Given the description of an element on the screen output the (x, y) to click on. 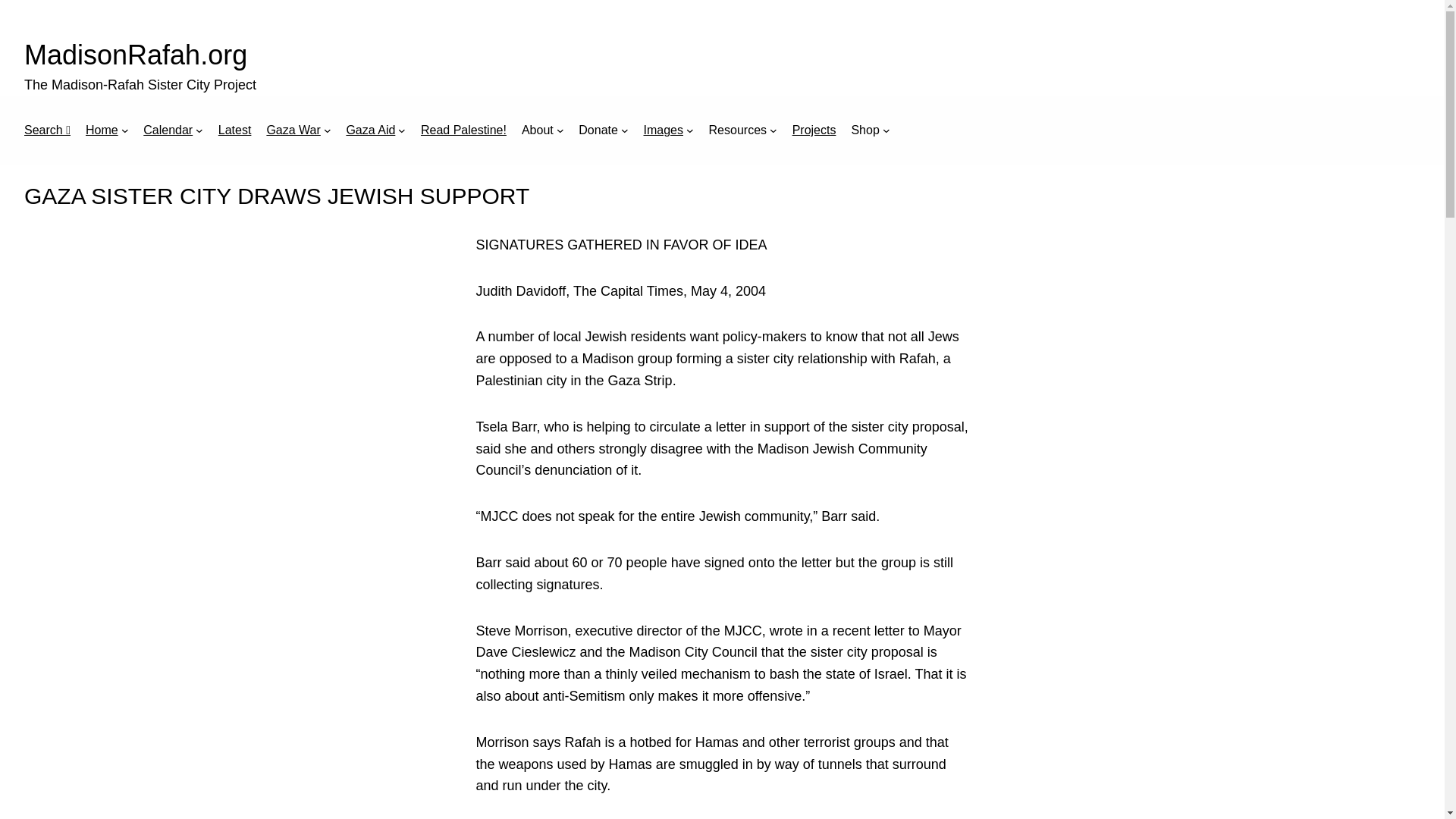
Home (101, 130)
Gaza War (293, 130)
Latest (234, 130)
Calendar (167, 130)
Gaza Aid (370, 130)
